Given the description of an element on the screen output the (x, y) to click on. 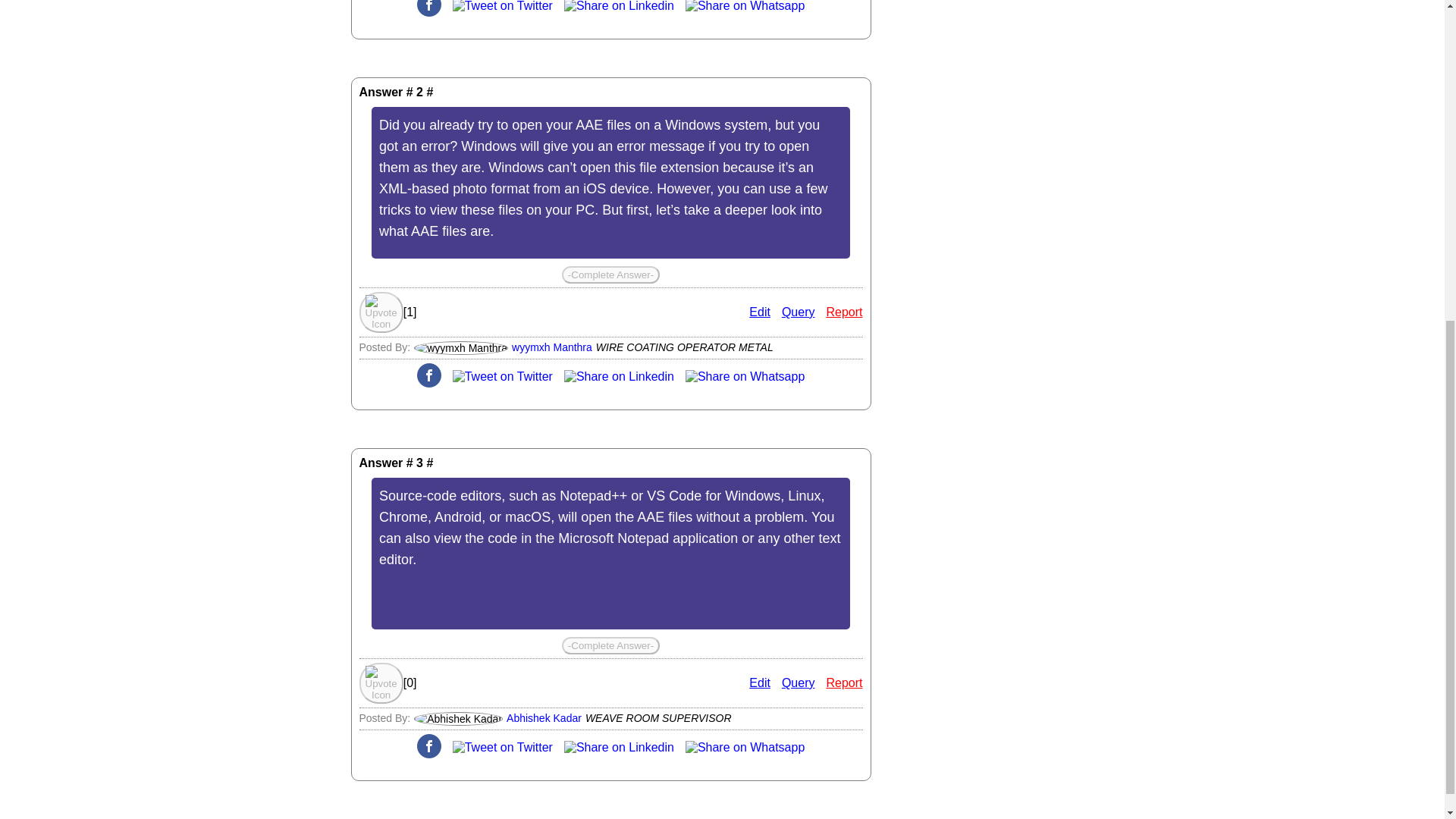
-Complete Answer- (610, 274)
Abhishek Kadar (543, 717)
-Complete Answer- (610, 645)
wyymxh Manthra (552, 346)
